Given the description of an element on the screen output the (x, y) to click on. 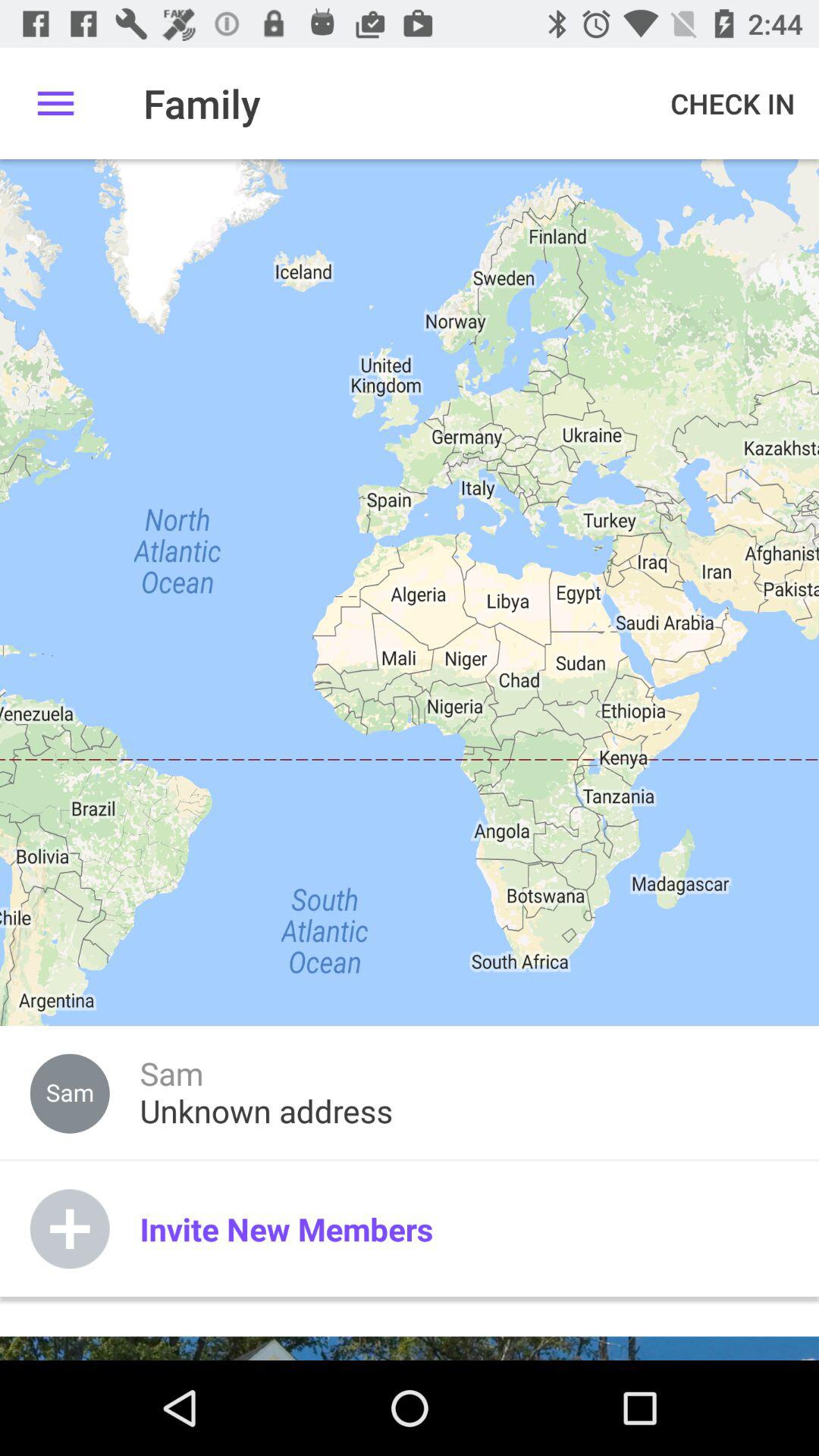
flip until check in item (732, 103)
